Given the description of an element on the screen output the (x, y) to click on. 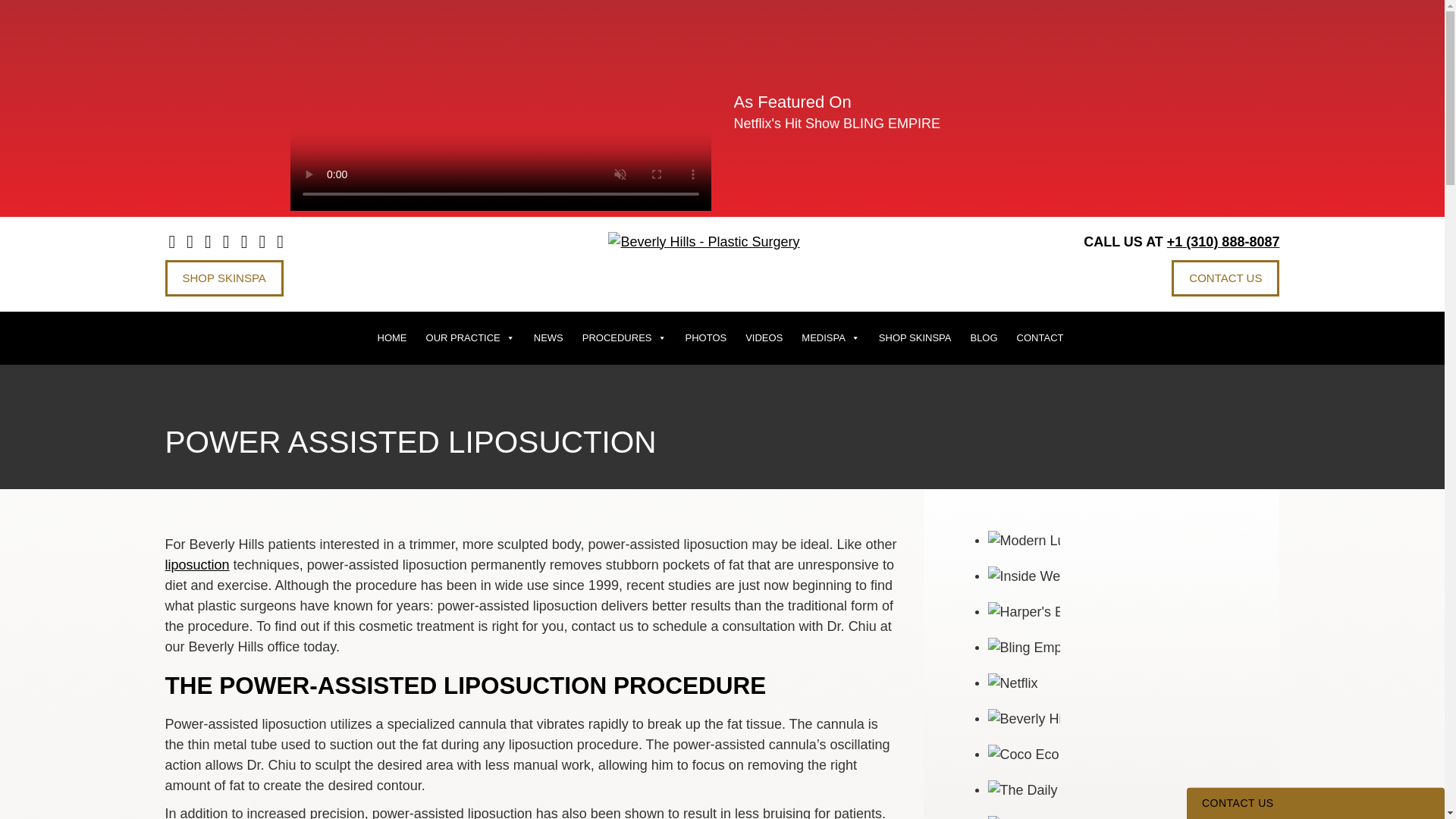
OUR PRACTICE (470, 338)
Beverly Hills Liposuction (197, 564)
CONTACT US (1225, 277)
HOME (391, 338)
SHOP SKINSPA (224, 277)
PROCEDURES (624, 338)
NEWS (547, 338)
